Given the description of an element on the screen output the (x, y) to click on. 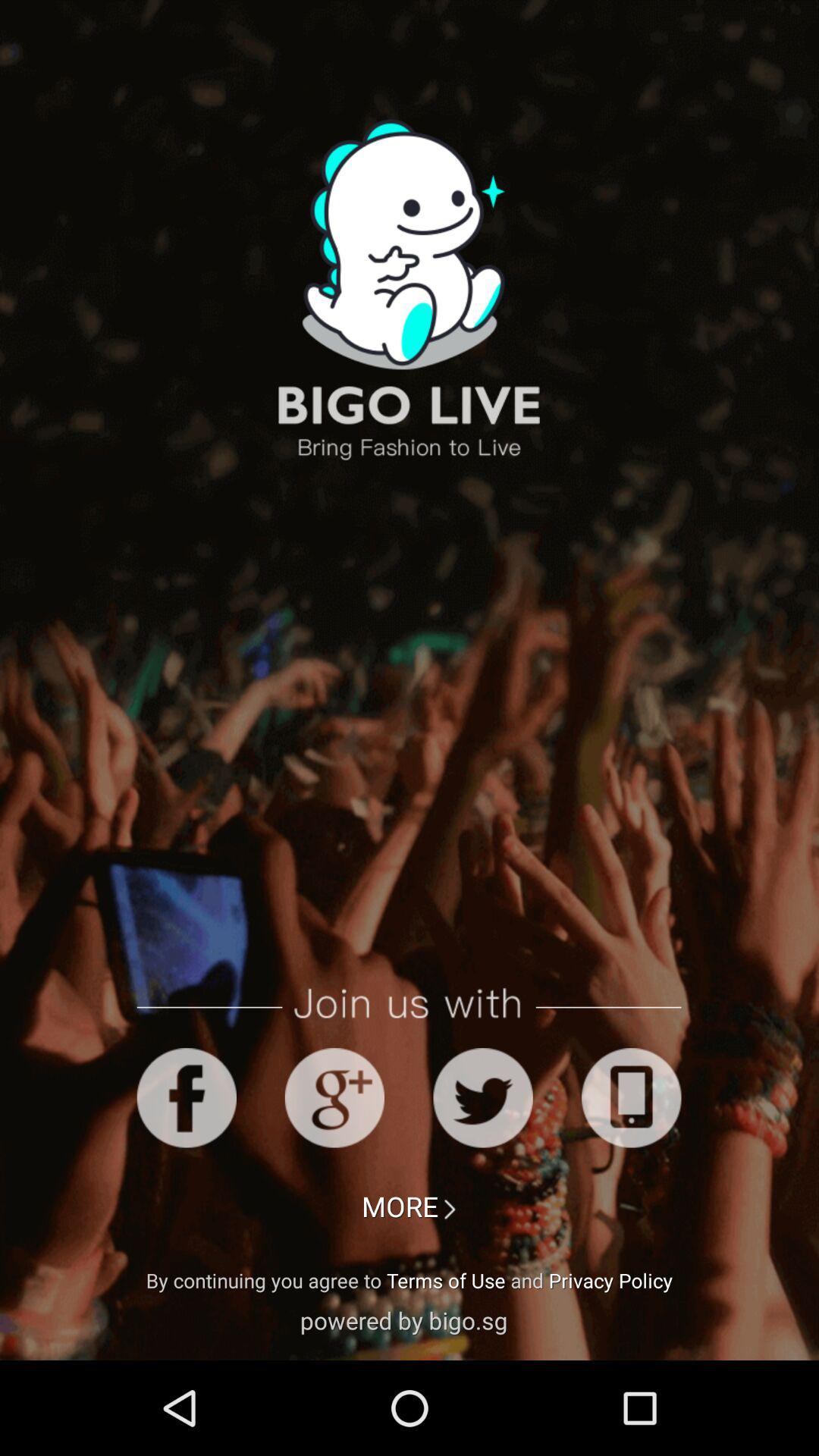
login with google+ (334, 1097)
